Given the description of an element on the screen output the (x, y) to click on. 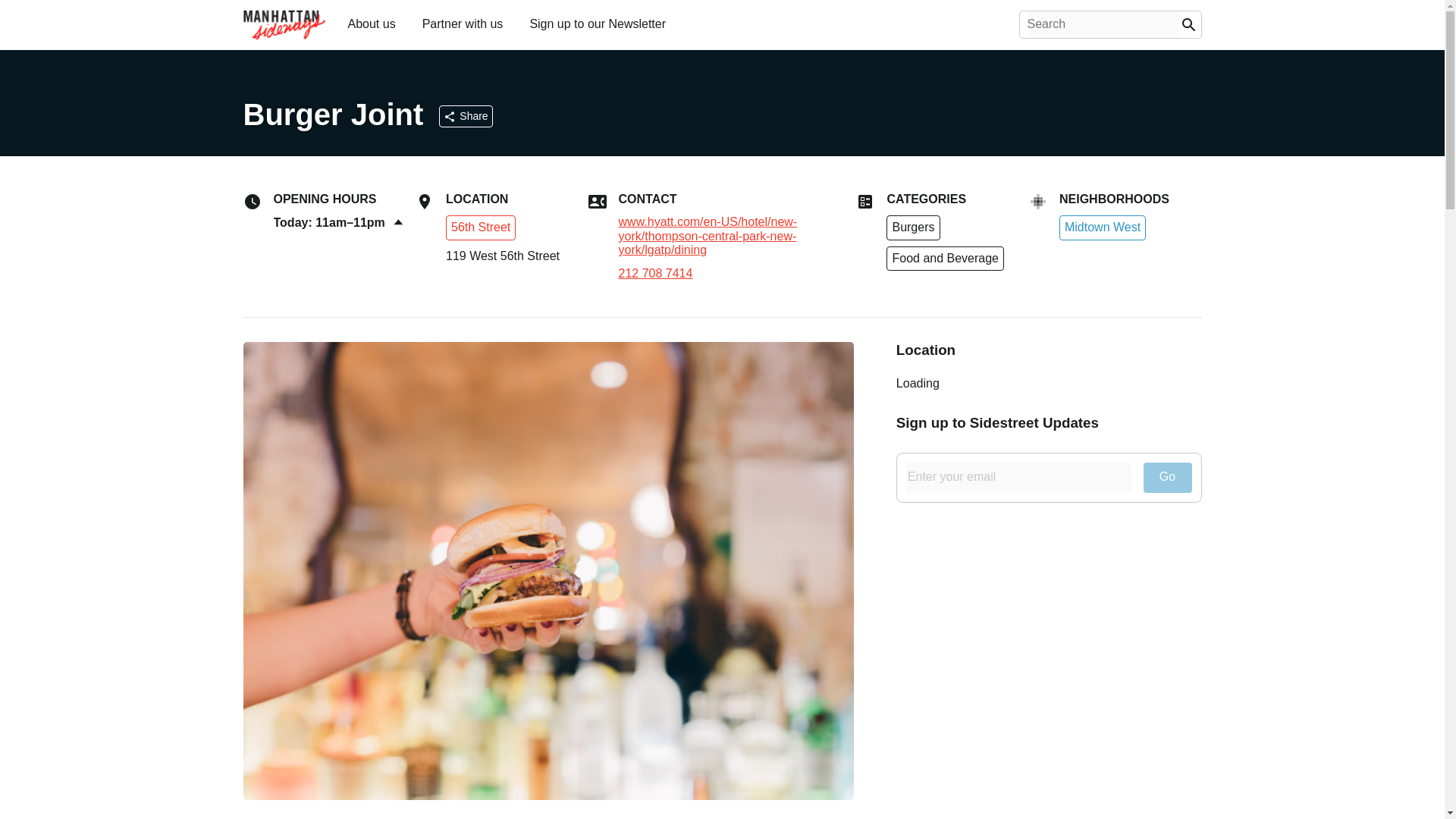
Partner with us (462, 23)
Go (1167, 477)
56th Street (480, 226)
Burgers (912, 227)
About us (371, 23)
Food and Beverage (945, 258)
212 708 7414 (737, 273)
Sign up to our Newsletter (596, 23)
Share (465, 115)
56th Street (480, 227)
